Given the description of an element on the screen output the (x, y) to click on. 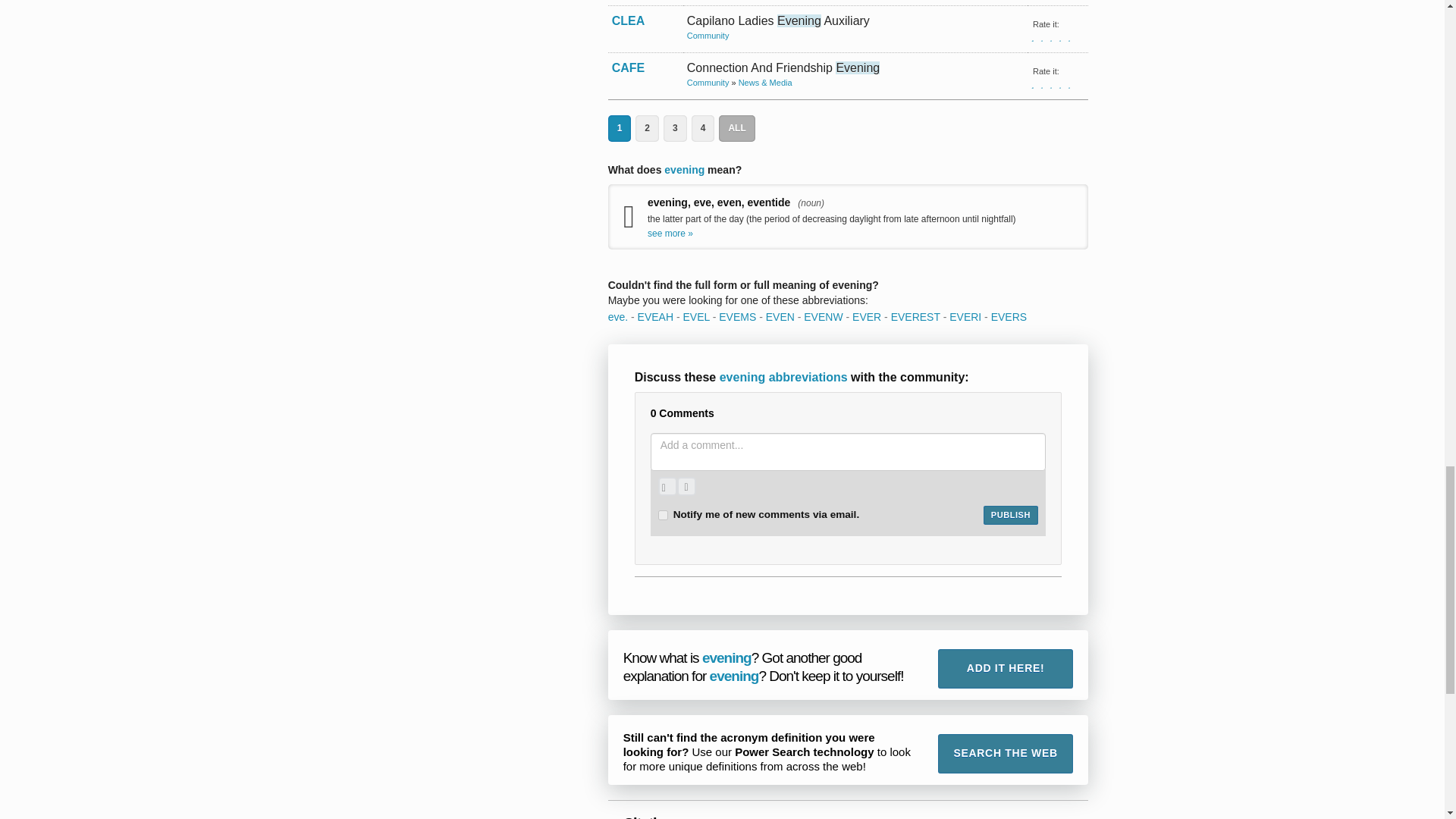
on (663, 515)
Upload an image (667, 486)
Record a sound (686, 486)
